Given the description of an element on the screen output the (x, y) to click on. 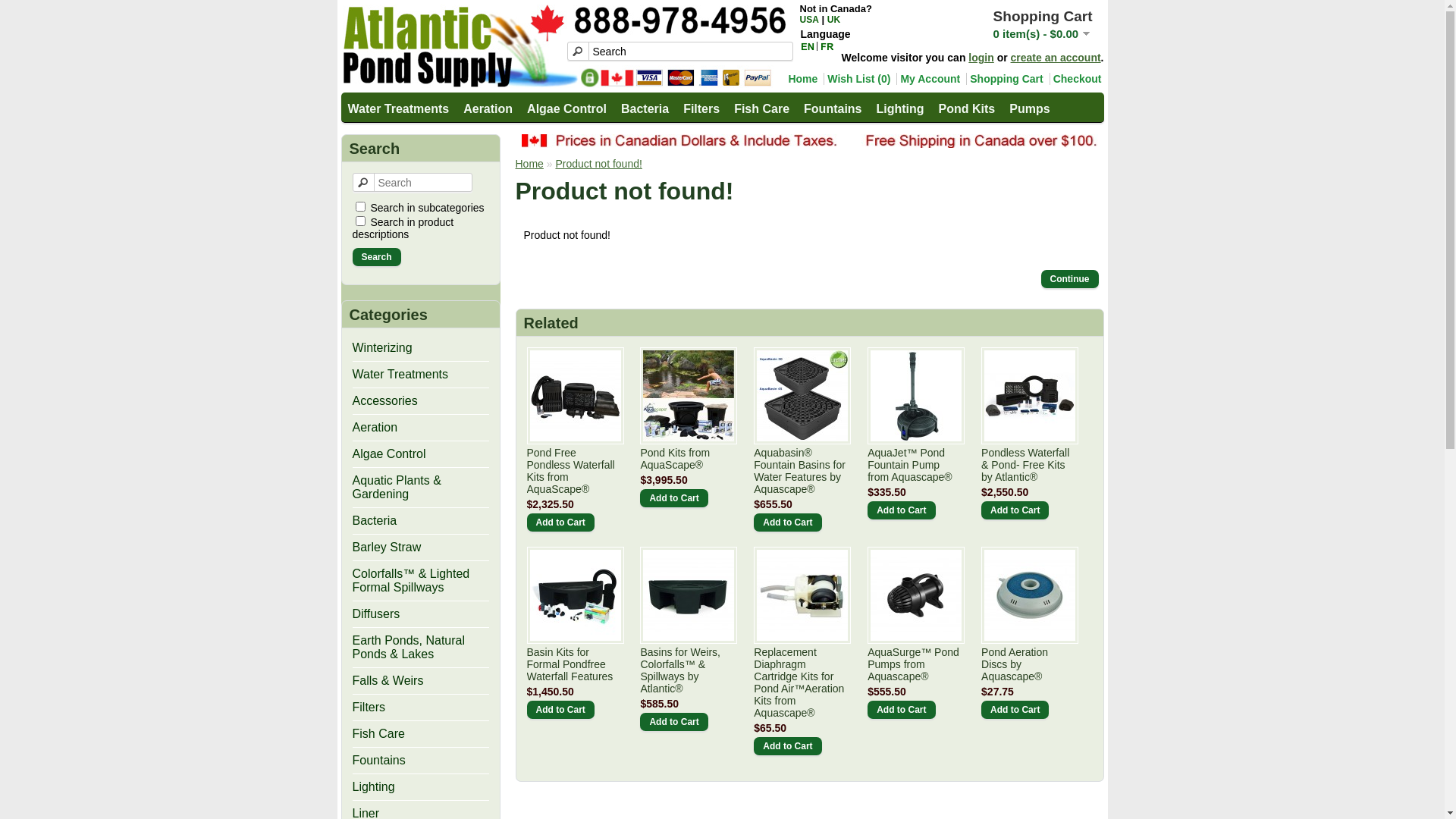
Add to Cart Element type: text (673, 721)
Basin Kits for Formal Pondfree Waterfall Features Element type: text (573, 664)
Filters Element type: text (368, 706)
Pumps Element type: text (1028, 107)
My Account Element type: text (928, 78)
Fish Care Element type: text (760, 107)
Atlantic Pond Supply CANADA Element type: hover (564, 45)
Home Element type: text (529, 163)
Aeration Element type: text (374, 426)
Checkout Element type: text (1075, 78)
0 item(s) - $0.00 Element type: text (1041, 33)
Winterizing Element type: text (381, 347)
Add to Cart Element type: text (559, 522)
Fountains Element type: text (831, 107)
Accessories Element type: text (384, 400)
Lighting Element type: text (372, 786)
Barley Straw Element type: text (385, 546)
Add to Cart Element type: text (1014, 510)
Add to Cart Element type: text (787, 522)
Continue Element type: text (1069, 278)
English Element type: hover (807, 45)
create an account Element type: text (1055, 57)
Add to Cart Element type: text (673, 498)
Add to Cart Element type: text (559, 709)
Add to Cart Element type: text (901, 510)
Water Treatments Element type: text (399, 373)
Search Element type: text (680, 50)
Bacteria Element type: text (644, 107)
Fountains Element type: text (377, 759)
Algae Control Element type: text (388, 453)
Add to Cart Element type: text (901, 709)
pit2016en Element type: hover (809, 140)
USA Element type: text (808, 19)
Add to Cart Element type: text (1014, 709)
Lighting Element type: text (899, 107)
Pond Kits Element type: text (966, 107)
login Element type: text (980, 57)
Add to Cart Element type: text (787, 746)
Water Treatments Element type: text (397, 107)
Aquatic Plants & Gardening Element type: text (395, 486)
Shopping Cart Element type: text (1004, 78)
UK Element type: text (833, 19)
Falls & Weirs Element type: text (387, 680)
Aeration Element type: text (487, 107)
Bacteria Element type: text (373, 520)
Diffusers Element type: text (375, 613)
Home Element type: text (800, 78)
Earth Ponds, Natural Ponds & Lakes Element type: text (407, 646)
Filters Element type: text (700, 107)
Wish List (0) Element type: text (856, 78)
Product not found! Element type: text (598, 163)
Fish Care Element type: text (377, 733)
Algae Control Element type: text (565, 107)
